Given the description of an element on the screen output the (x, y) to click on. 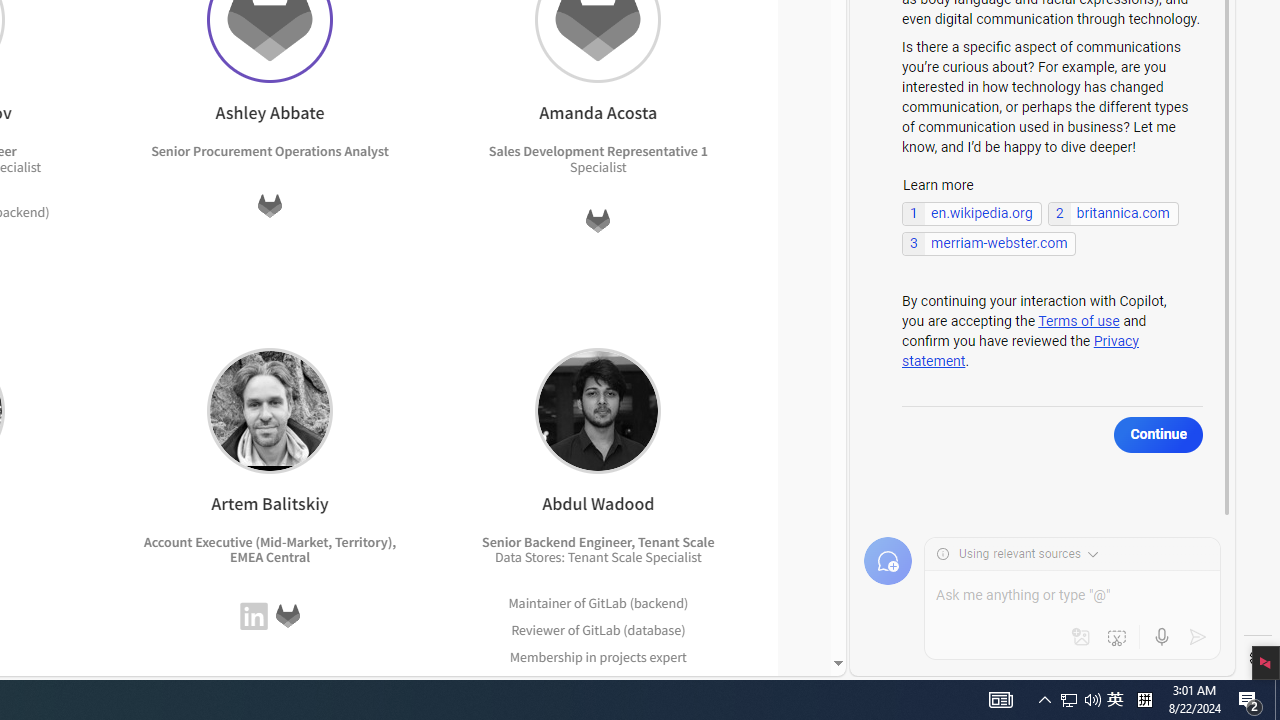
Membership in groups expert (598, 683)
Reviewer of GitLab (database) (598, 629)
GitLab (287, 616)
Artem Balitskiy (269, 410)
Artem Balitskiy (269, 409)
Reviewer (537, 629)
Membership in groups (578, 682)
Specialist (673, 557)
Membership in projects (577, 656)
Membership in projects expert (598, 655)
Maintainer of GitLab (backend) (598, 601)
Senior Backend Engineer (557, 541)
Maintainer (540, 602)
